Given the description of an element on the screen output the (x, y) to click on. 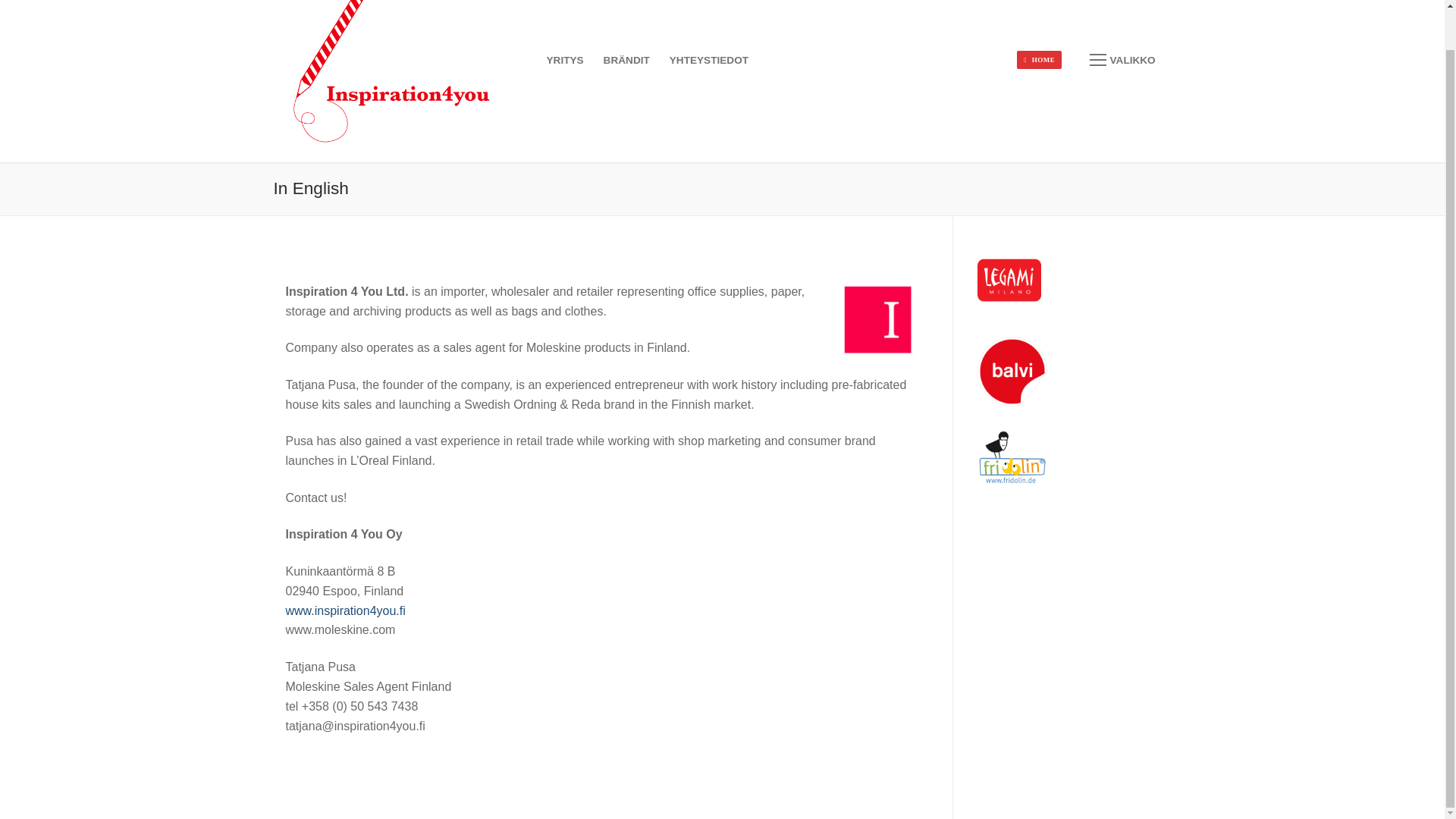
YRITYS (565, 60)
YHTEYSTIEDOT (708, 60)
www.inspiration4you.fi (344, 610)
VALIKKO (1122, 60)
HOME (1038, 59)
